Given the description of an element on the screen output the (x, y) to click on. 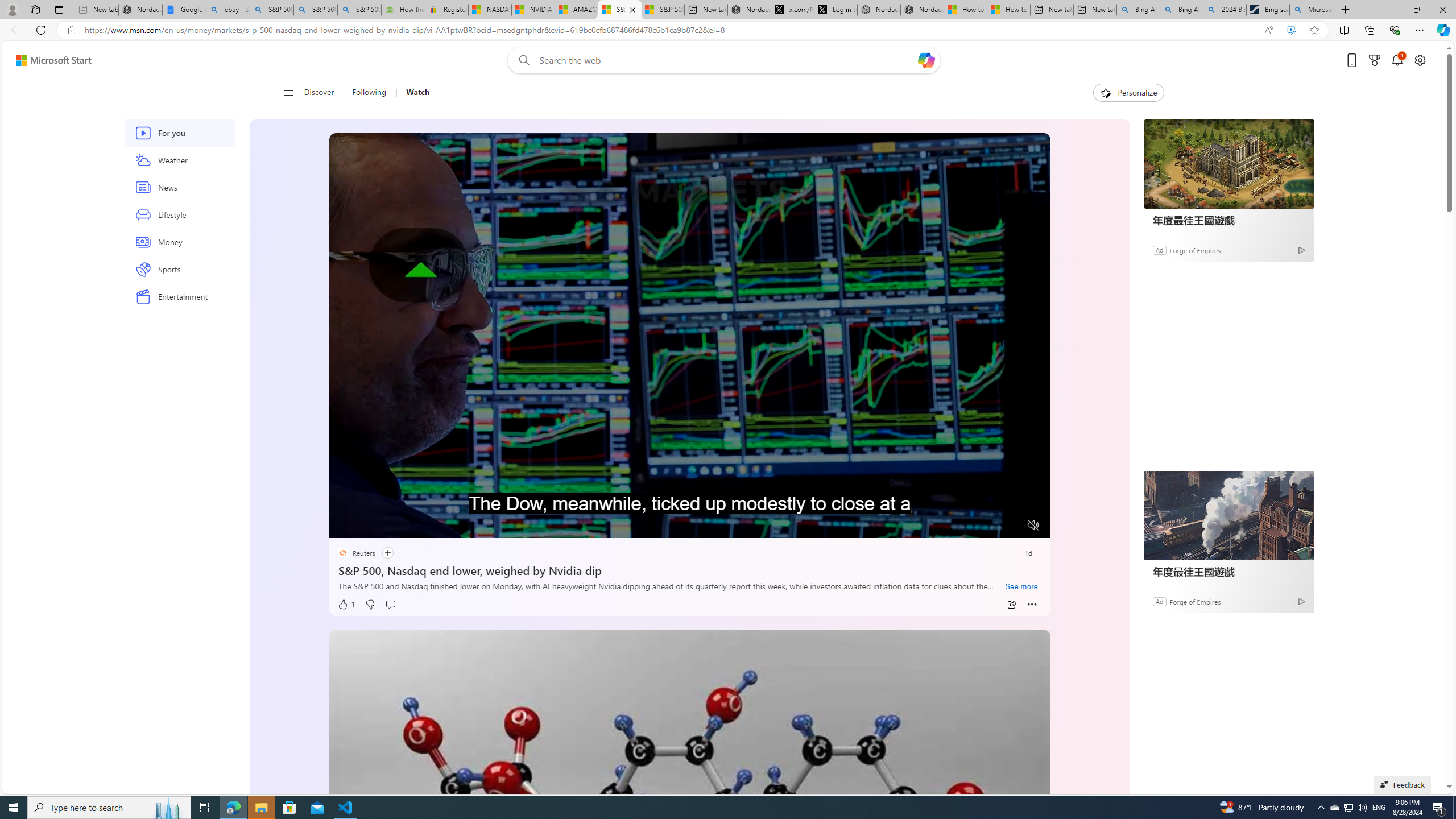
Address and search bar (669, 29)
Close tab (632, 9)
Register: Create a personal eBay account (446, 9)
Bing search market share worldwide 2024 | Statista (1267, 9)
Minimize (1390, 9)
New tab - Sleeping (96, 9)
S&P 500, Nasdaq end lower, weighed by Nvidia dip (689, 568)
Refresh (40, 29)
Skip to footer (46, 59)
Restore (1416, 9)
Split screen (1344, 29)
